Given the description of an element on the screen output the (x, y) to click on. 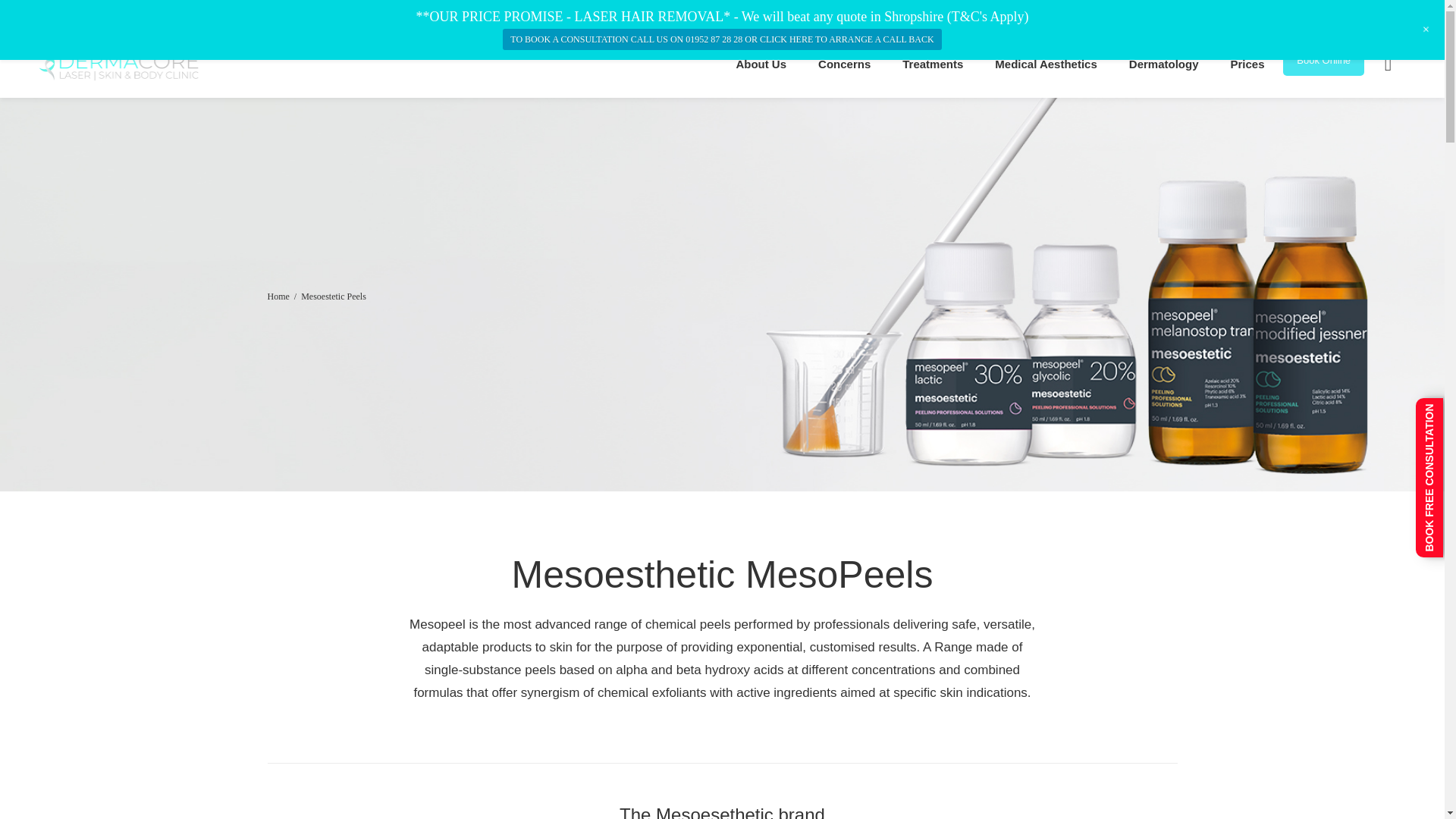
About Us (760, 63)
Concerns (844, 63)
01952 872828 (955, 16)
